Given the description of an element on the screen output the (x, y) to click on. 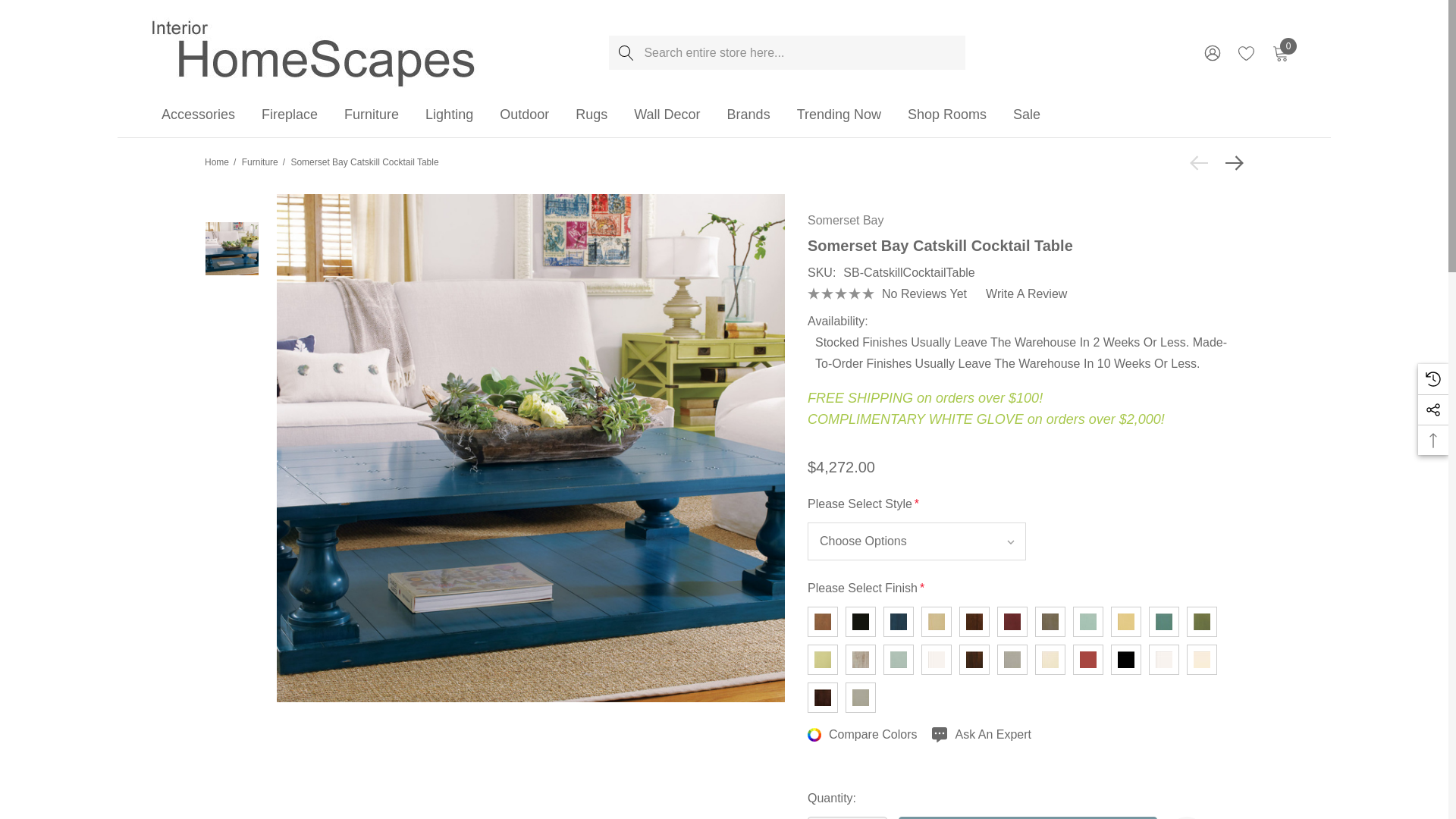
Black Forest (860, 621)
Interior HomeScapes (315, 52)
Creme Brulee (1125, 621)
Cotton Candy (1088, 621)
Gelato (1163, 621)
Accessories (197, 115)
